Given the description of an element on the screen output the (x, y) to click on. 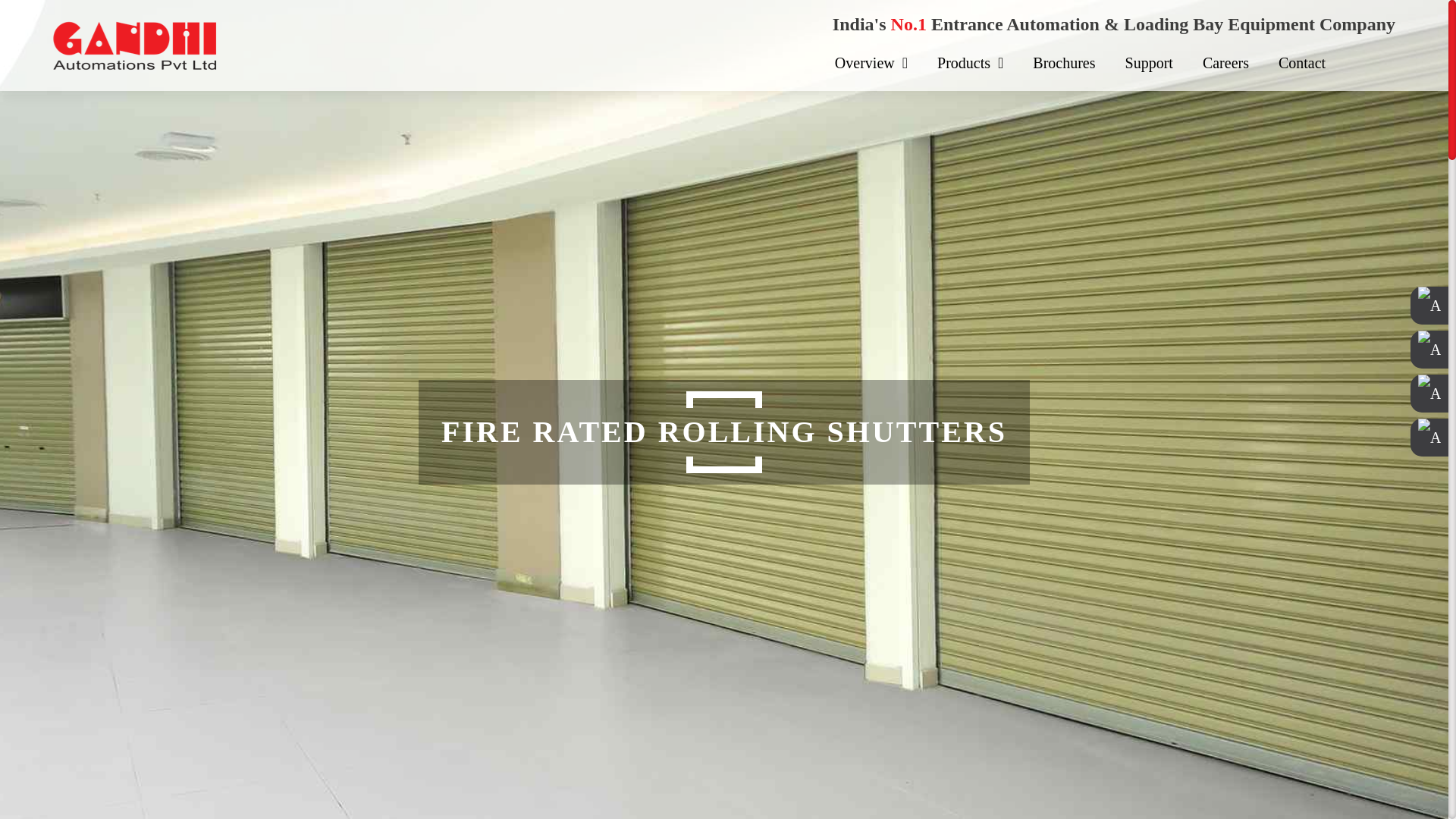
Support (1148, 62)
Products (970, 62)
Overview (871, 62)
Careers (1224, 62)
Contact (1301, 62)
Brochures (1063, 62)
